Given the description of an element on the screen output the (x, y) to click on. 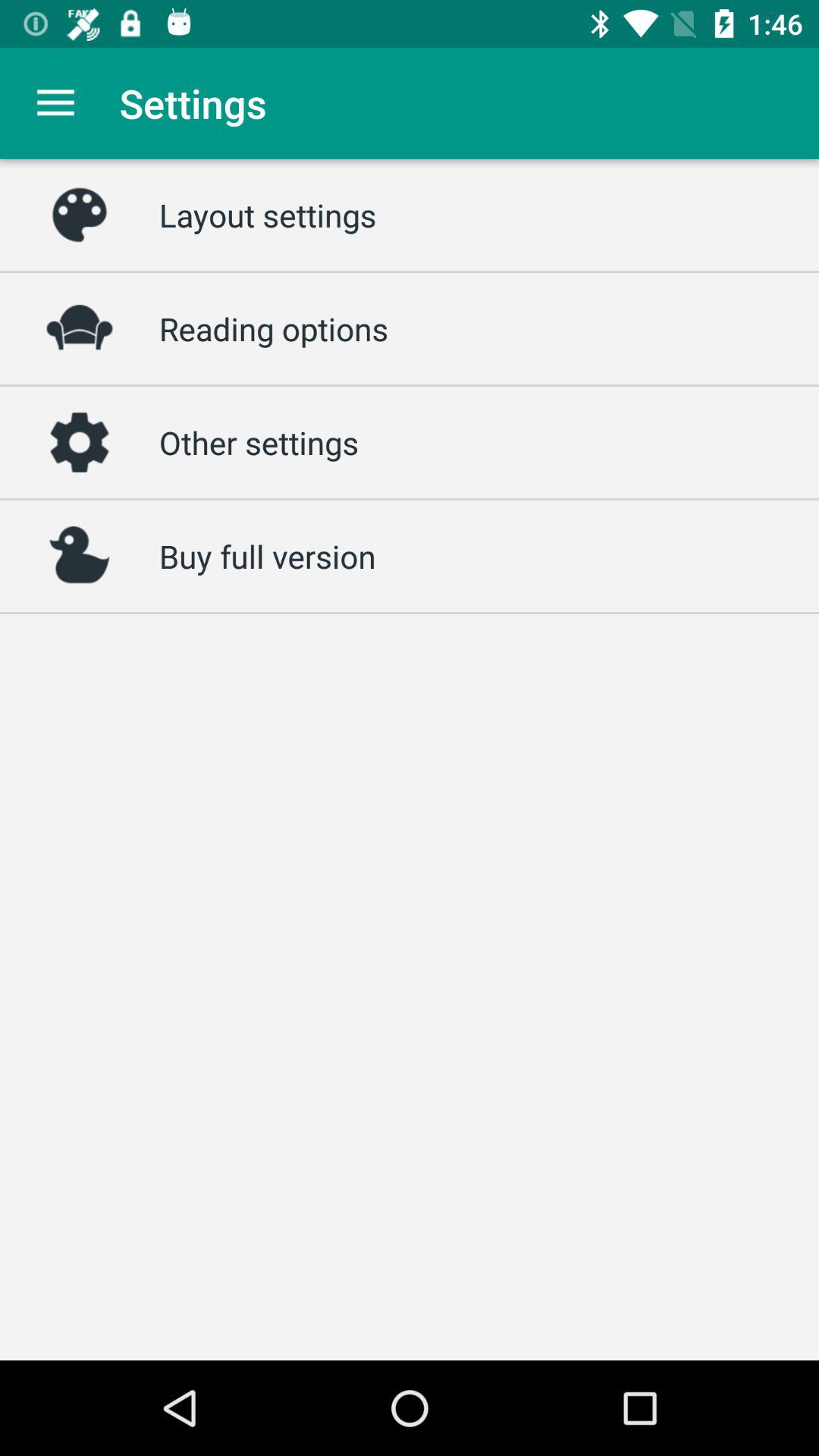
launch the buy full version (267, 555)
